Given the description of an element on the screen output the (x, y) to click on. 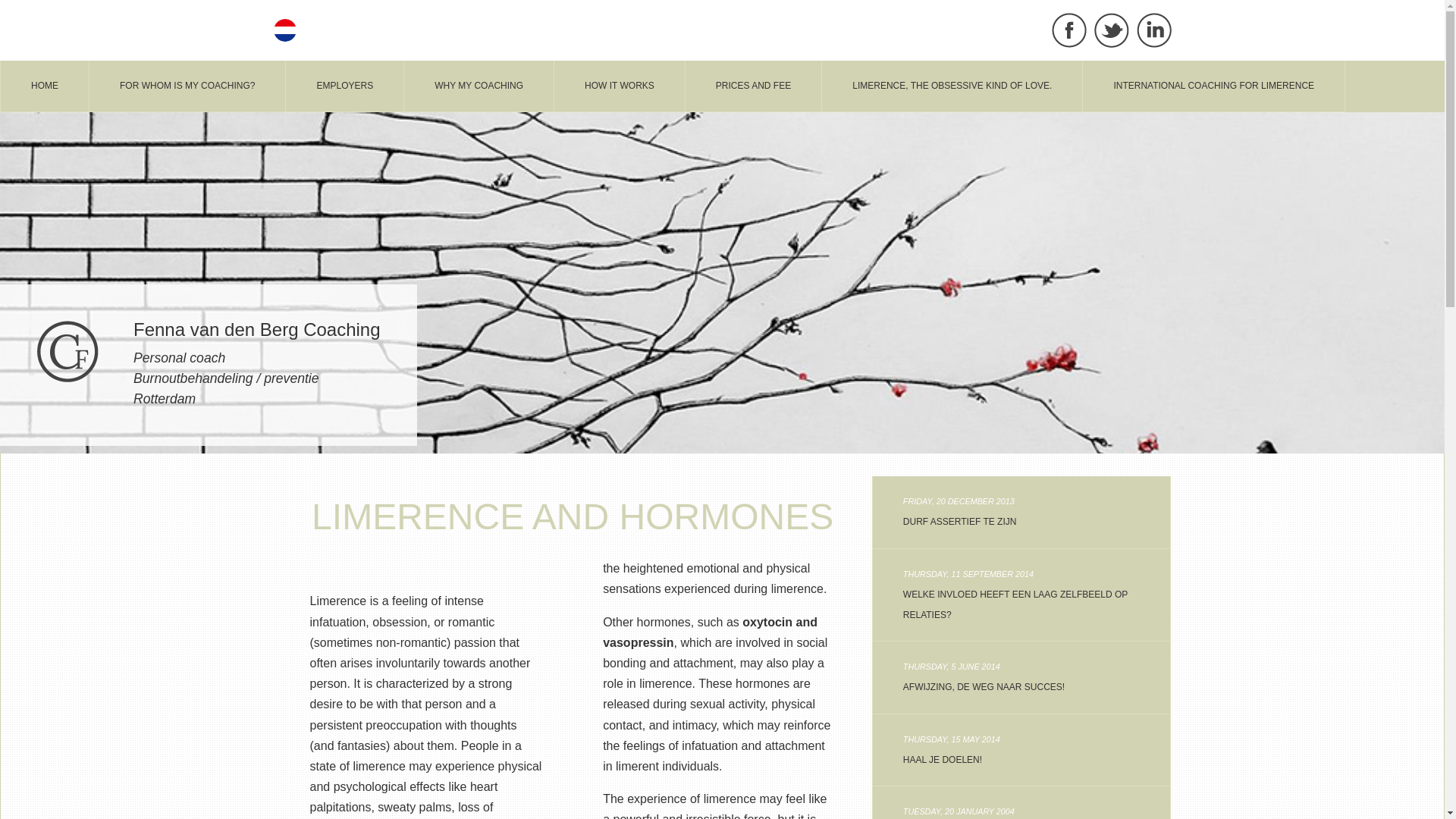
HOW IT WORKS (1021, 511)
HOME (619, 85)
INTERNATIONAL COACHING FOR LIMERENCE (44, 85)
EMPLOYERS (1213, 85)
FOR WHOM IS MY COACHING? (344, 85)
WHY MY COACHING (186, 85)
PRICES AND FEE (478, 85)
LIMERENCE, THE OBSESSIVE KIND OF LOVE. (753, 85)
